Given the description of an element on the screen output the (x, y) to click on. 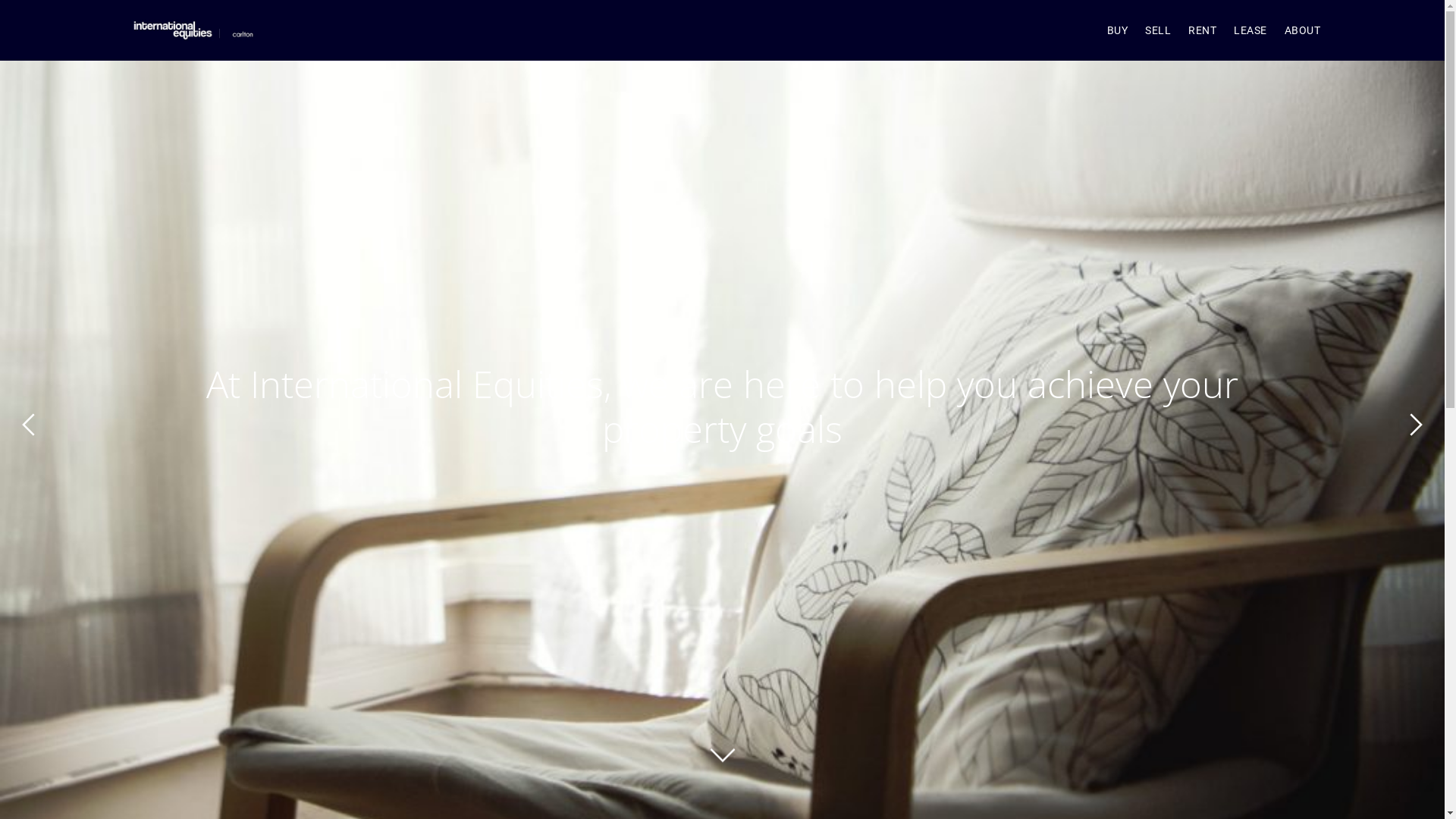
ABOUT Element type: text (1302, 30)
SELL Element type: text (1157, 30)
RENT Element type: text (1201, 30)
LEASE Element type: text (1250, 30)
BUY Element type: text (1117, 30)
